Given the description of an element on the screen output the (x, y) to click on. 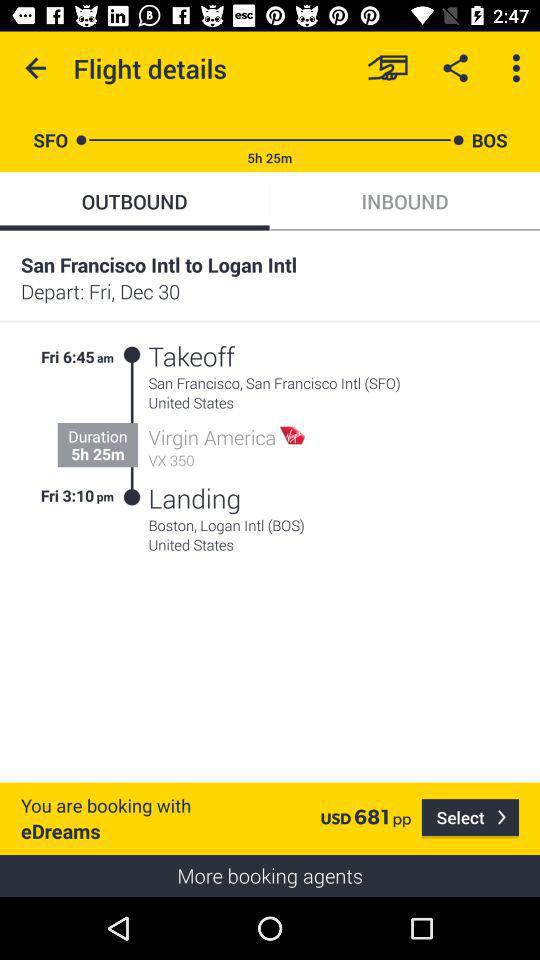
click the item above the you are booking (131, 426)
